Given the description of an element on the screen output the (x, y) to click on. 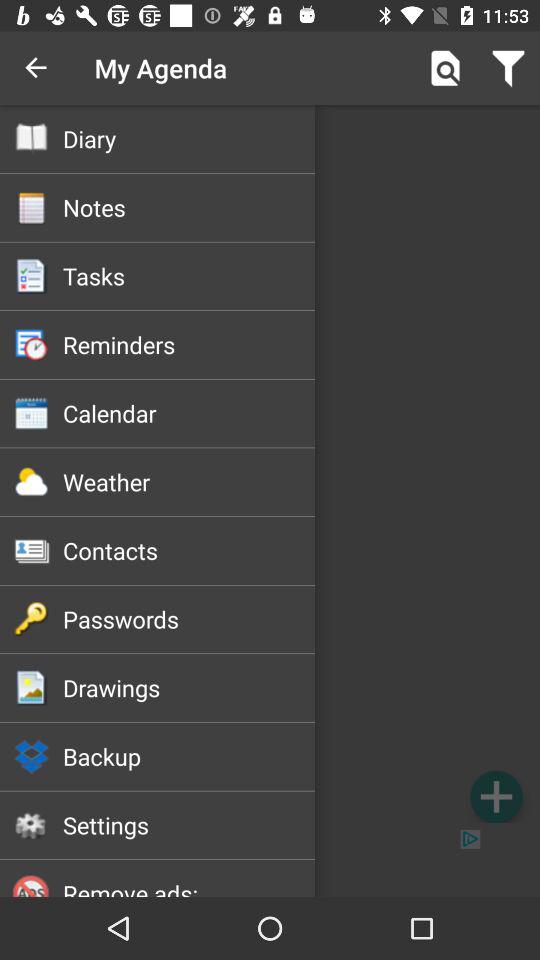
jump to the remove ads: icon (188, 886)
